Given the description of an element on the screen output the (x, y) to click on. 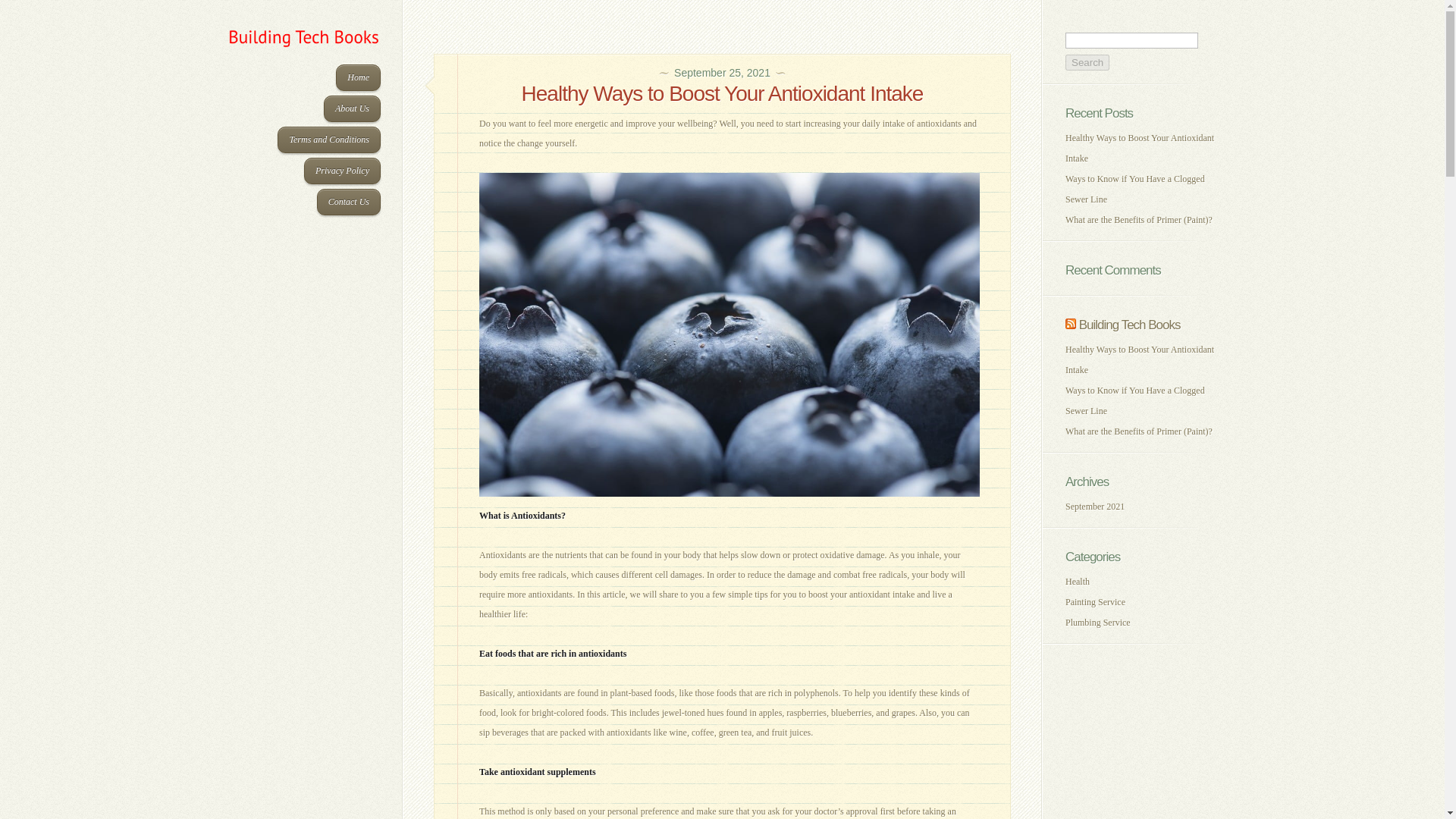
Ways to Know if You Have a Clogged Sewer Line (1135, 400)
Home (358, 77)
Healthy Ways to Boost Your Antioxidant Intake (1139, 359)
Contact Us (348, 202)
Ways to Know if You Have a Clogged Sewer Line (1135, 188)
Search (1087, 62)
Terms and Conditions (329, 139)
Building Tech Books (1129, 324)
Health (1077, 581)
Healthy Ways to Boost Your Antioxidant Intake (1139, 147)
Search (1087, 62)
September 2021 (1094, 506)
Privacy Policy (342, 171)
About Us (351, 108)
Healthy Ways to Boost Your Antioxidant Intake (722, 93)
